Given the description of an element on the screen output the (x, y) to click on. 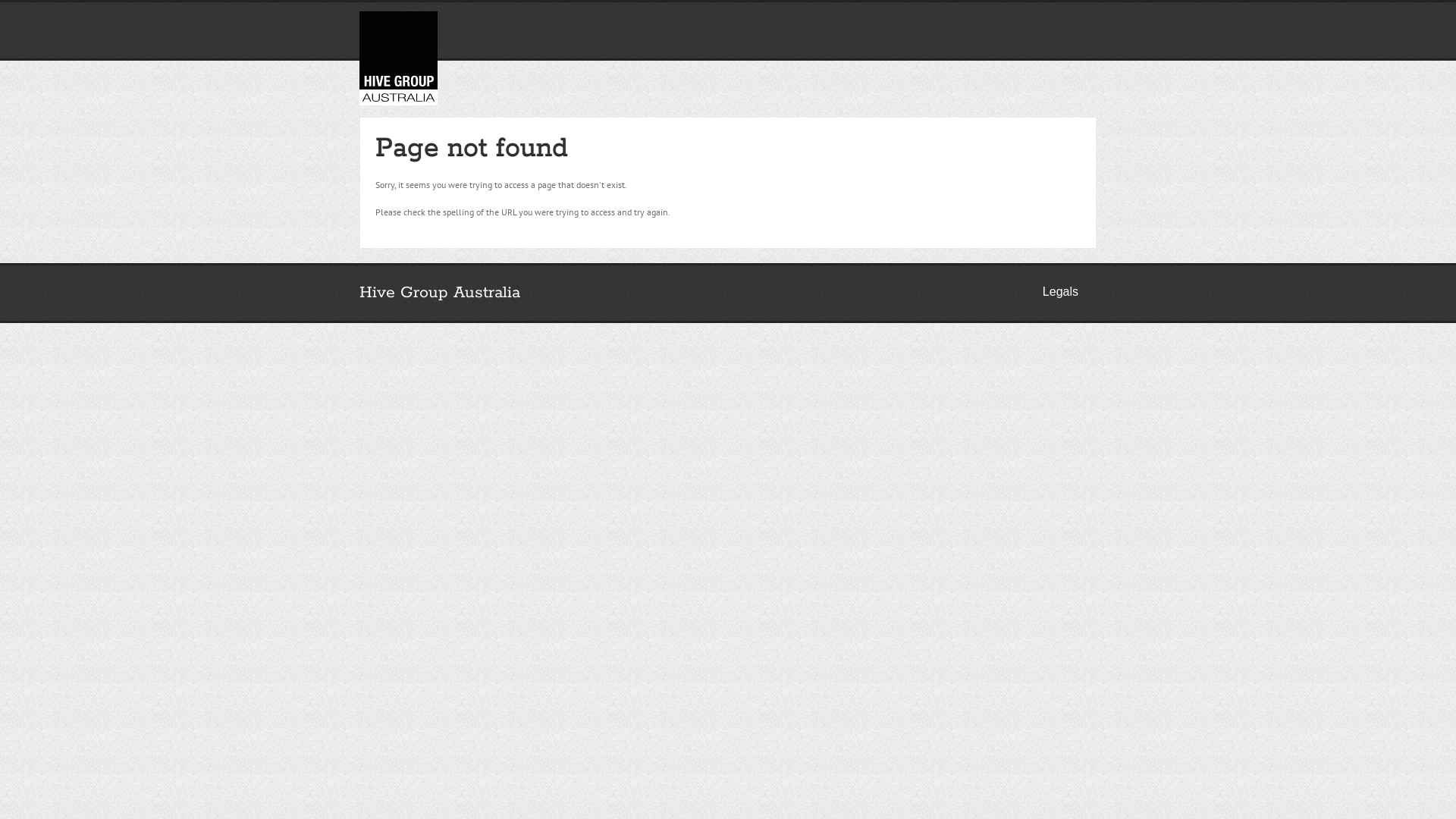
Legals Element type: text (1060, 291)
